Given the description of an element on the screen output the (x, y) to click on. 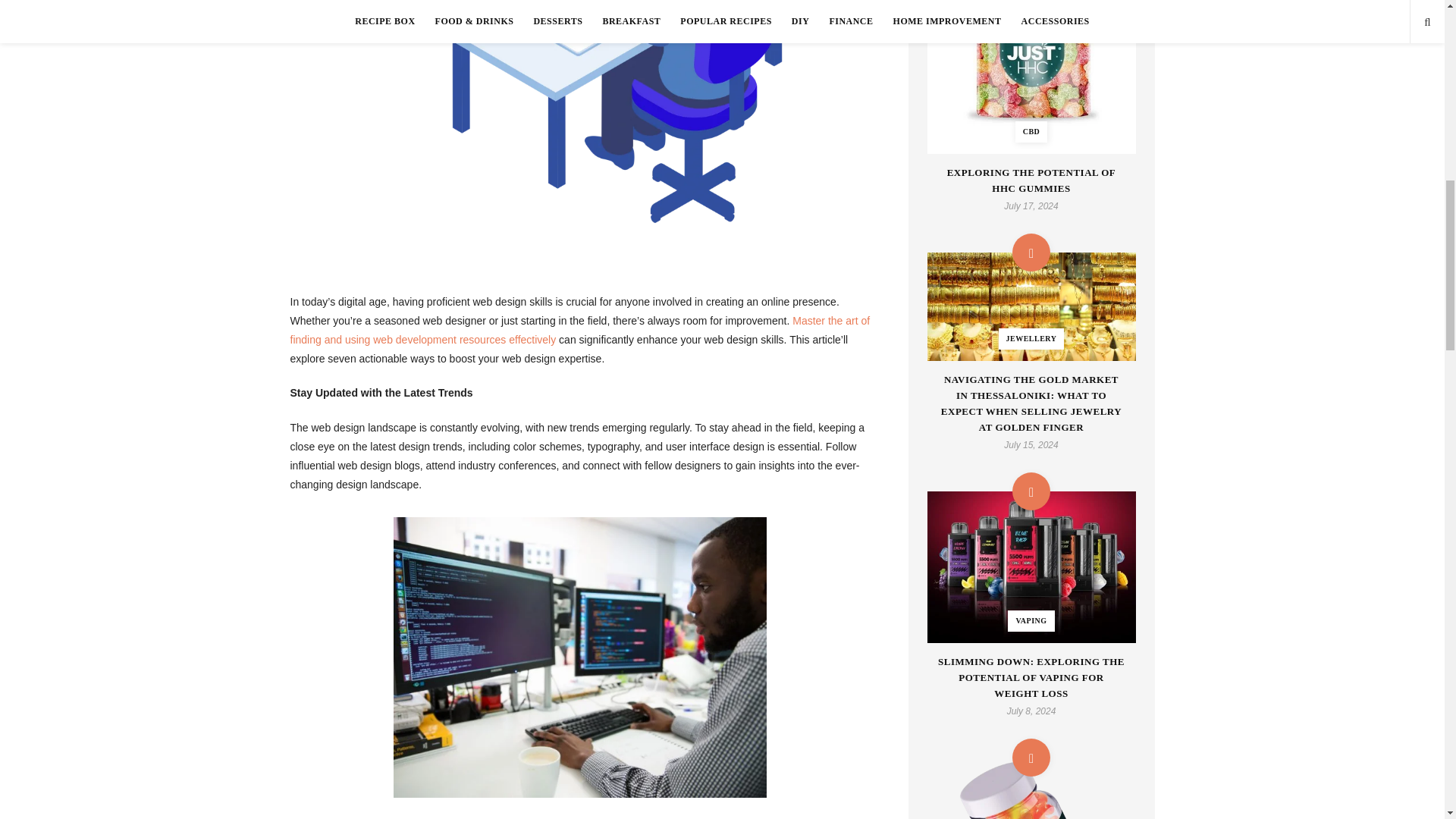
Permanent Link: Exploring The Potential Of HHC Gummies (1031, 181)
CBD (1030, 76)
JEWELLERY (1030, 306)
EXPLORING THE POTENTIAL OF HHC GUMMIES (1031, 181)
Permanent Link: Exploring The Potential Of HHC Gummies (1030, 76)
